Given the description of an element on the screen output the (x, y) to click on. 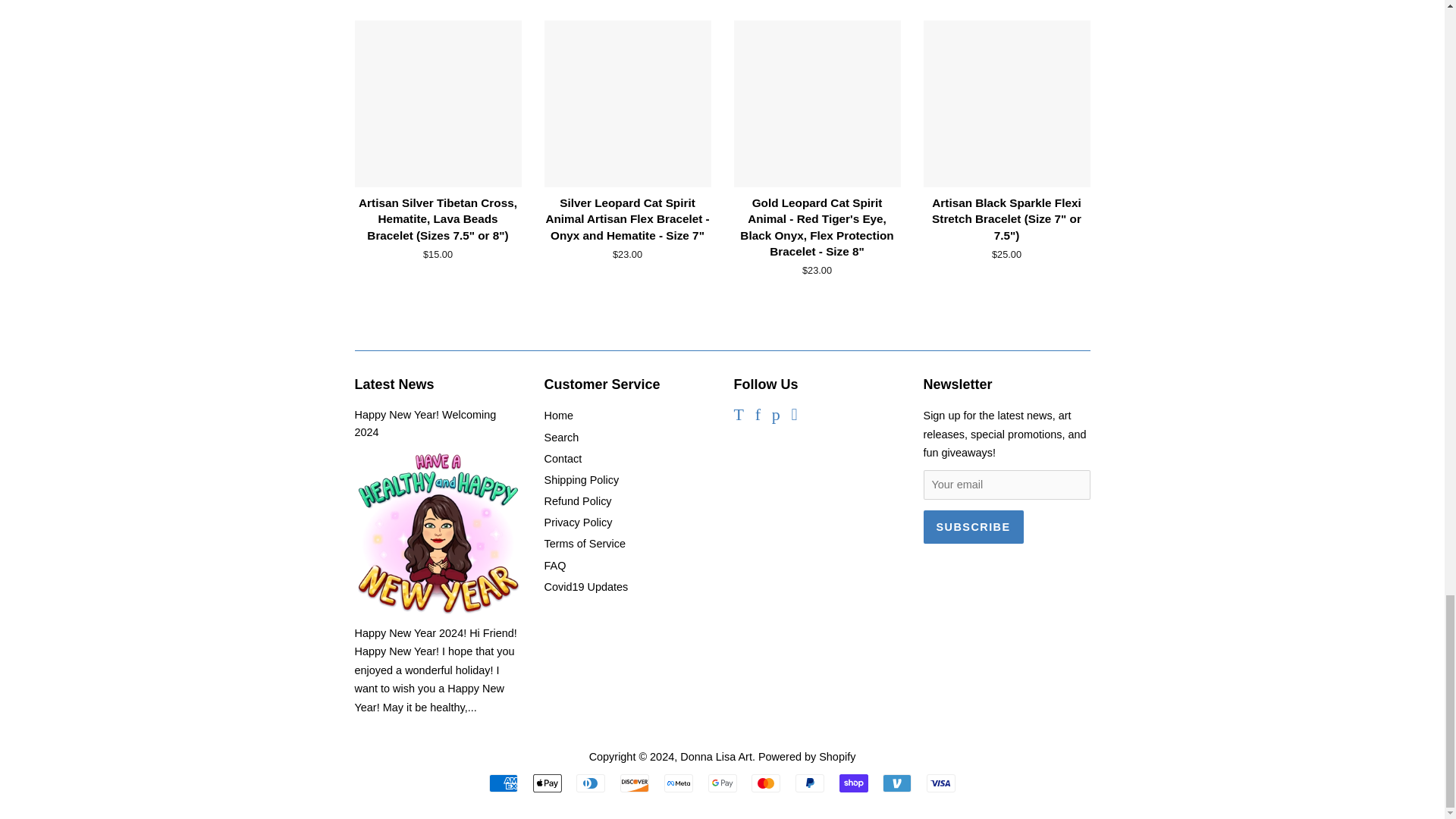
Discover (634, 782)
Visa (940, 782)
Diners Club (590, 782)
Meta Pay (678, 782)
Venmo (896, 782)
PayPal (809, 782)
Subscribe (973, 526)
Shop Pay (853, 782)
Google Pay (721, 782)
American Express (503, 782)
Apple Pay (547, 782)
Mastercard (765, 782)
